Given the description of an element on the screen output the (x, y) to click on. 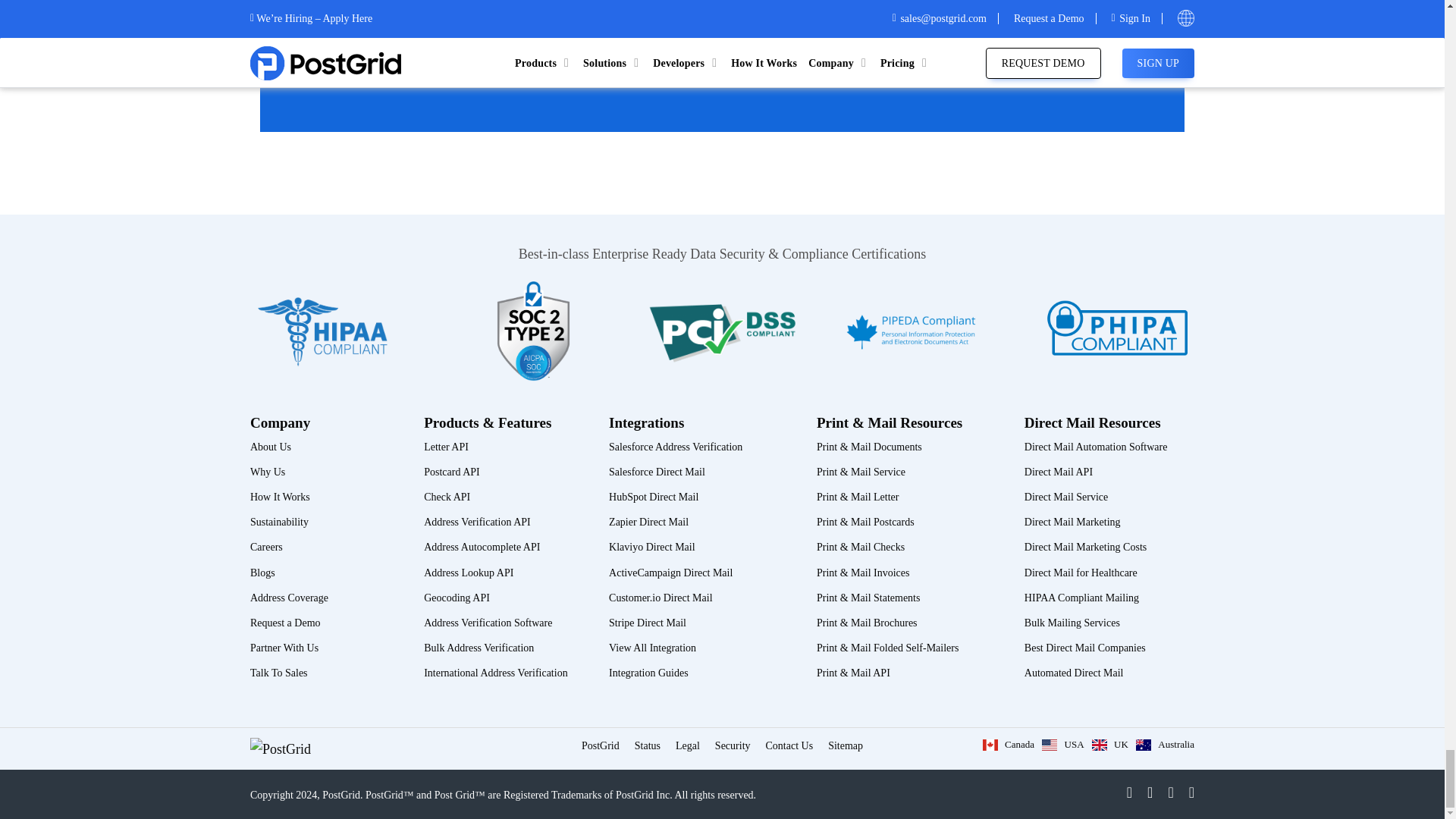
PostGrid (280, 748)
